Given the description of an element on the screen output the (x, y) to click on. 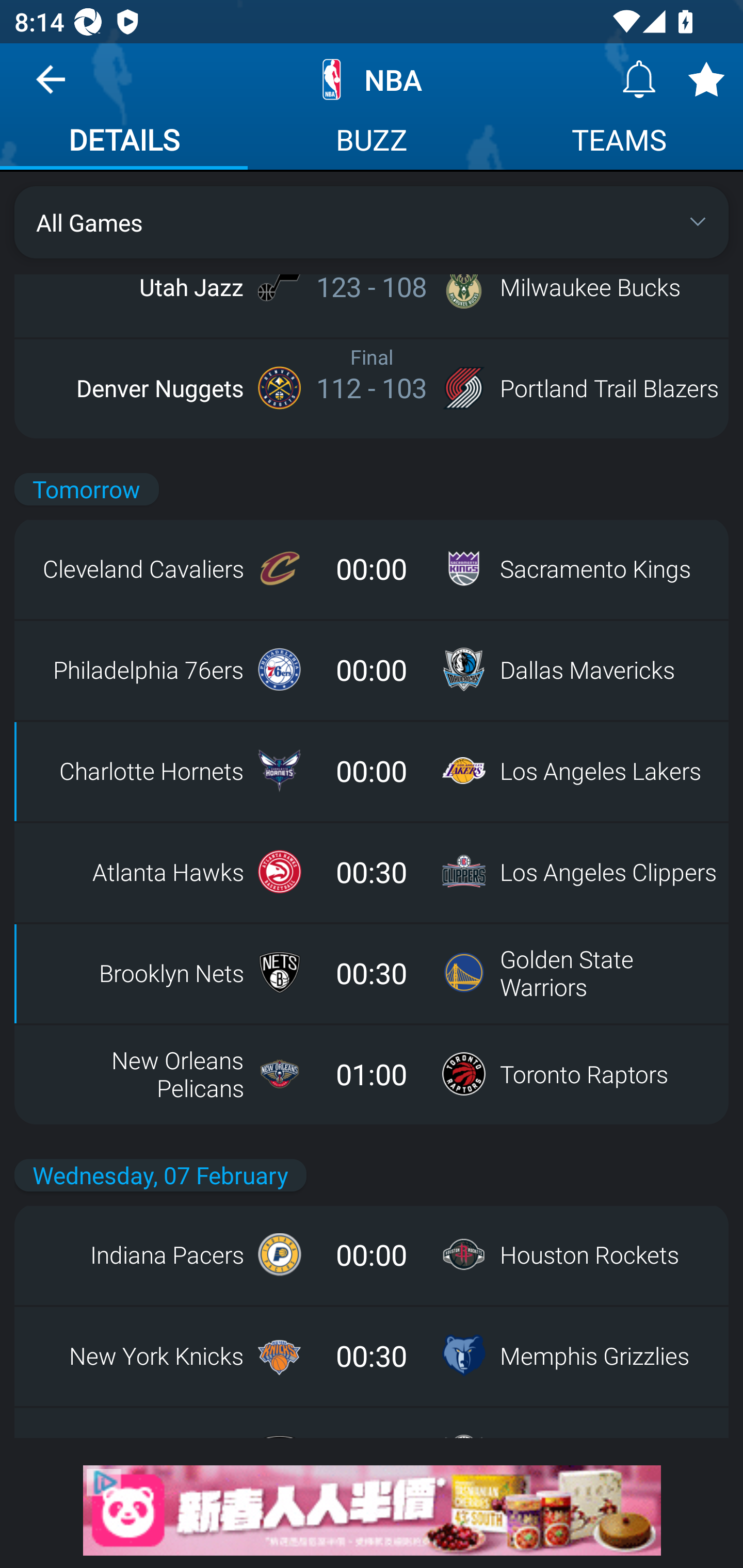
Navigate up (50, 86)
DETAILS (123, 142)
BUZZ (371, 142)
TEAMS (619, 142)
All Games (371, 222)
Utah Jazz Final 123 - 108 Milwaukee Bucks (371, 286)
Cleveland Cavaliers 00:00 Sacramento Kings (371, 568)
Philadelphia 76ers 00:00 Dallas Mavericks (371, 669)
Charlotte Hornets 00:00 Los Angeles Lakers (371, 770)
Atlanta Hawks 00:30 Los Angeles Clippers (371, 871)
Brooklyn Nets 00:30 Golden State Warriors (371, 972)
New Orleans Pelicans 01:00 Toronto Raptors (371, 1073)
Indiana Pacers 00:00 Houston Rockets (371, 1254)
New York Knicks 00:30 Memphis Grizzlies (371, 1355)
mg0gkqli_320x50 (371, 1509)
